Given the description of an element on the screen output the (x, y) to click on. 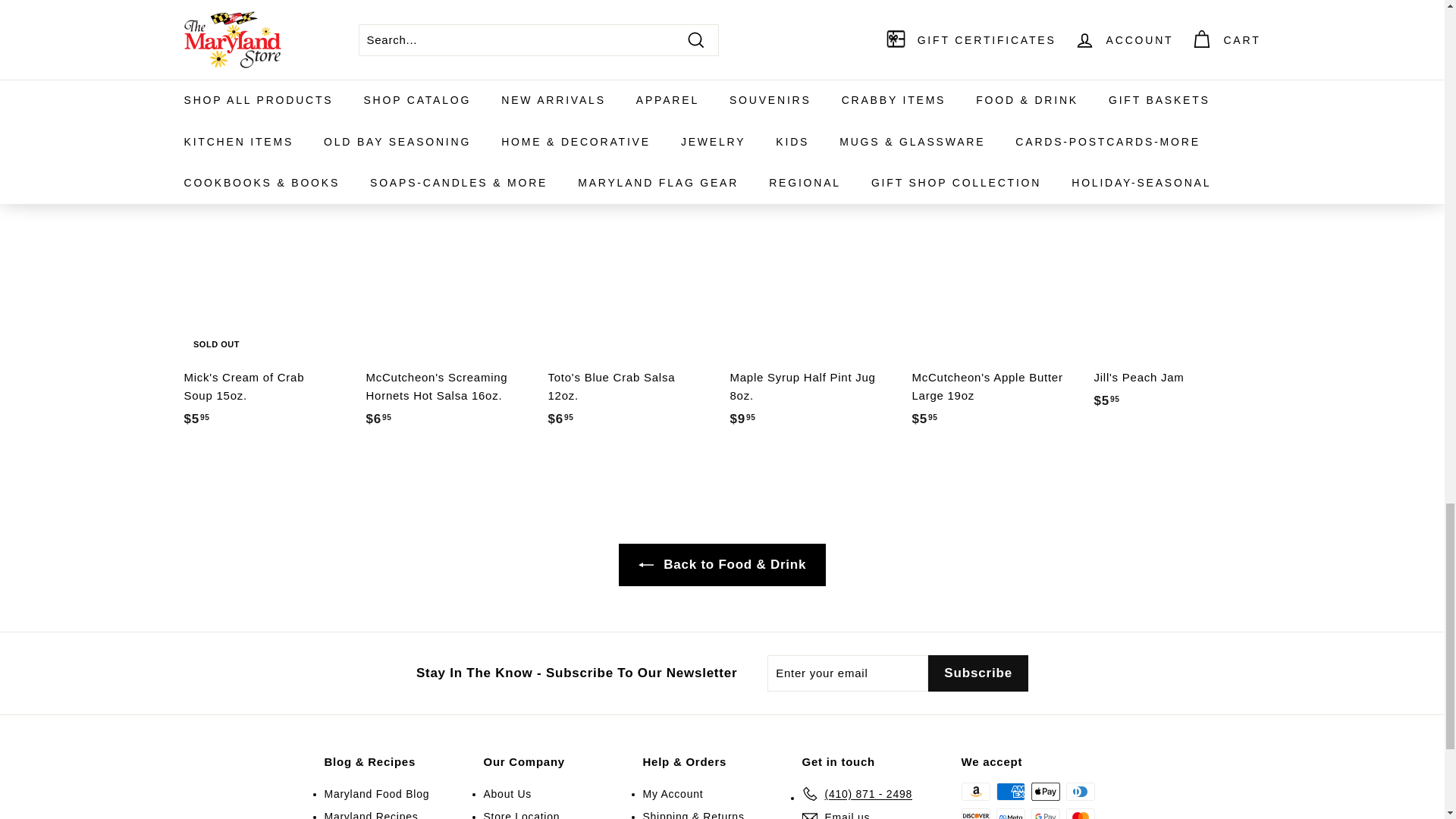
Discover (975, 813)
Meta Pay (1010, 813)
Amazon (975, 791)
American Express (1010, 791)
Diners Club (1079, 791)
Mastercard (1079, 813)
Apple Pay (1044, 791)
Google Pay (1044, 813)
